Given the description of an element on the screen output the (x, y) to click on. 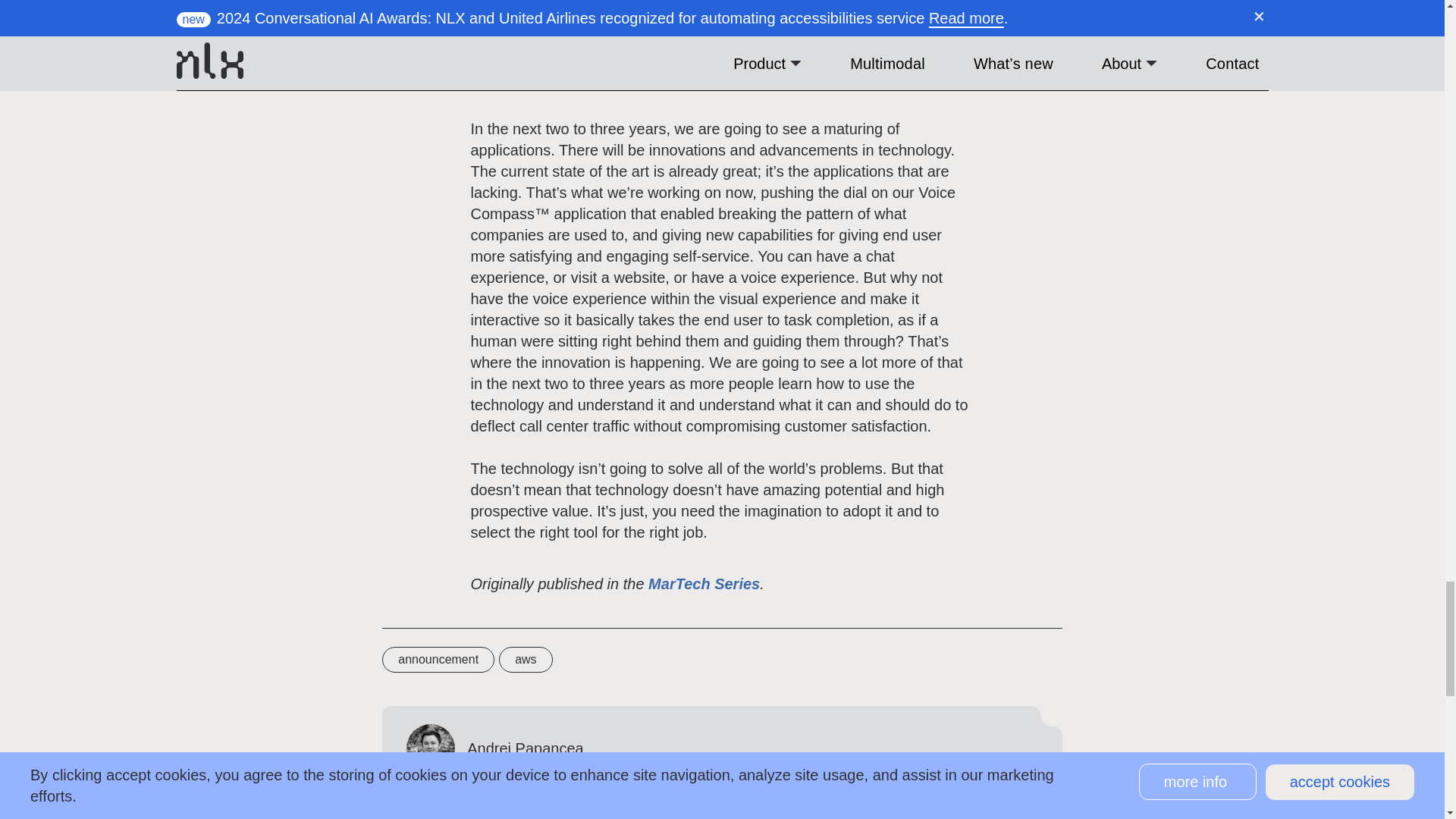
MarTech Series (703, 583)
